Given the description of an element on the screen output the (x, y) to click on. 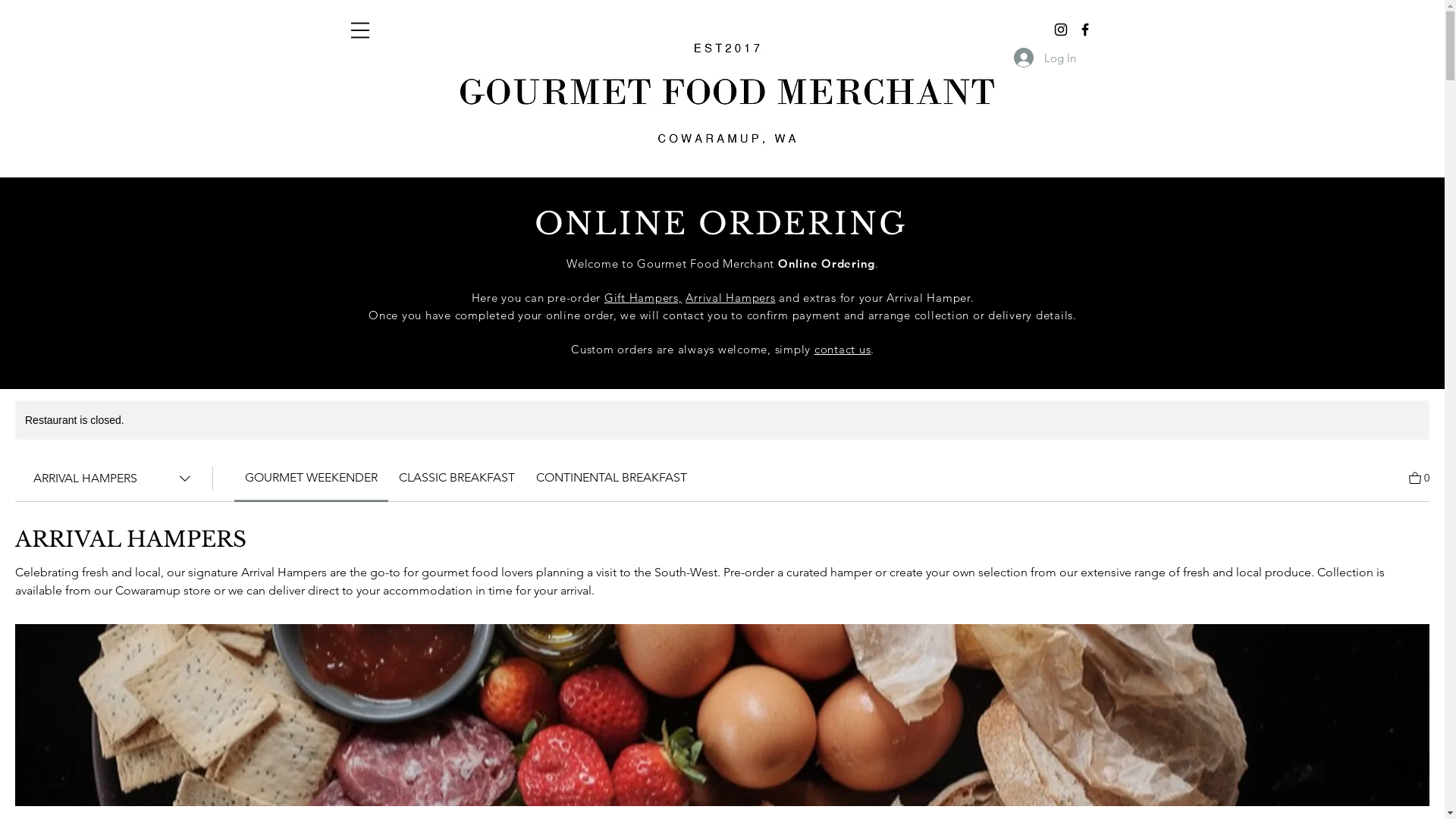
Log In Element type: text (1043, 57)
Arrival Hampers Element type: text (730, 297)
contact us Element type: text (842, 348)
ARRIVAL HAMPERS Element type: text (113, 478)
0 Element type: text (1418, 476)
Gift Hampers, Element type: text (643, 297)
